Given the description of an element on the screen output the (x, y) to click on. 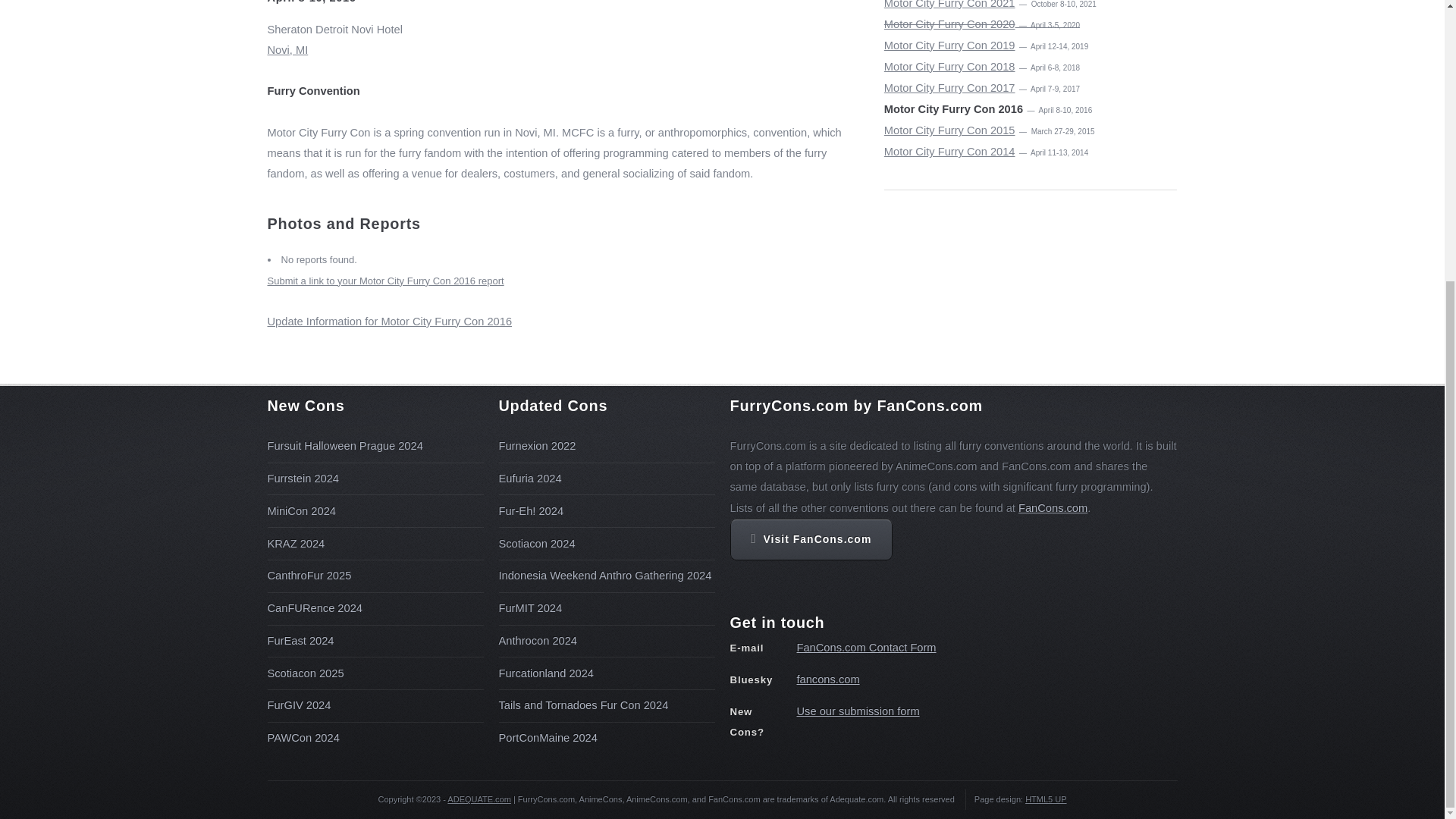
Motor City Furry Con 2018 (948, 66)
Motor City Furry Con 2015 (948, 130)
Motor City Furry Con 2020 (948, 24)
Novi, MI (566, 60)
Fursuit Halloween Prague 2024 (344, 445)
Eufuria 2024 (530, 478)
Scotiacon 2025 (304, 673)
Furnexion 2022 (537, 445)
Motor City Furry Con 2019 (948, 45)
CanthroFur 2025 (308, 575)
Submit a link to your Motor City Furry Con 2016 report (384, 280)
KRAZ 2024 (295, 542)
Update Information for Motor City Furry Con 2016 (389, 321)
PAWCon 2024 (302, 737)
MiniCon 2024 (300, 510)
